Given the description of an element on the screen output the (x, y) to click on. 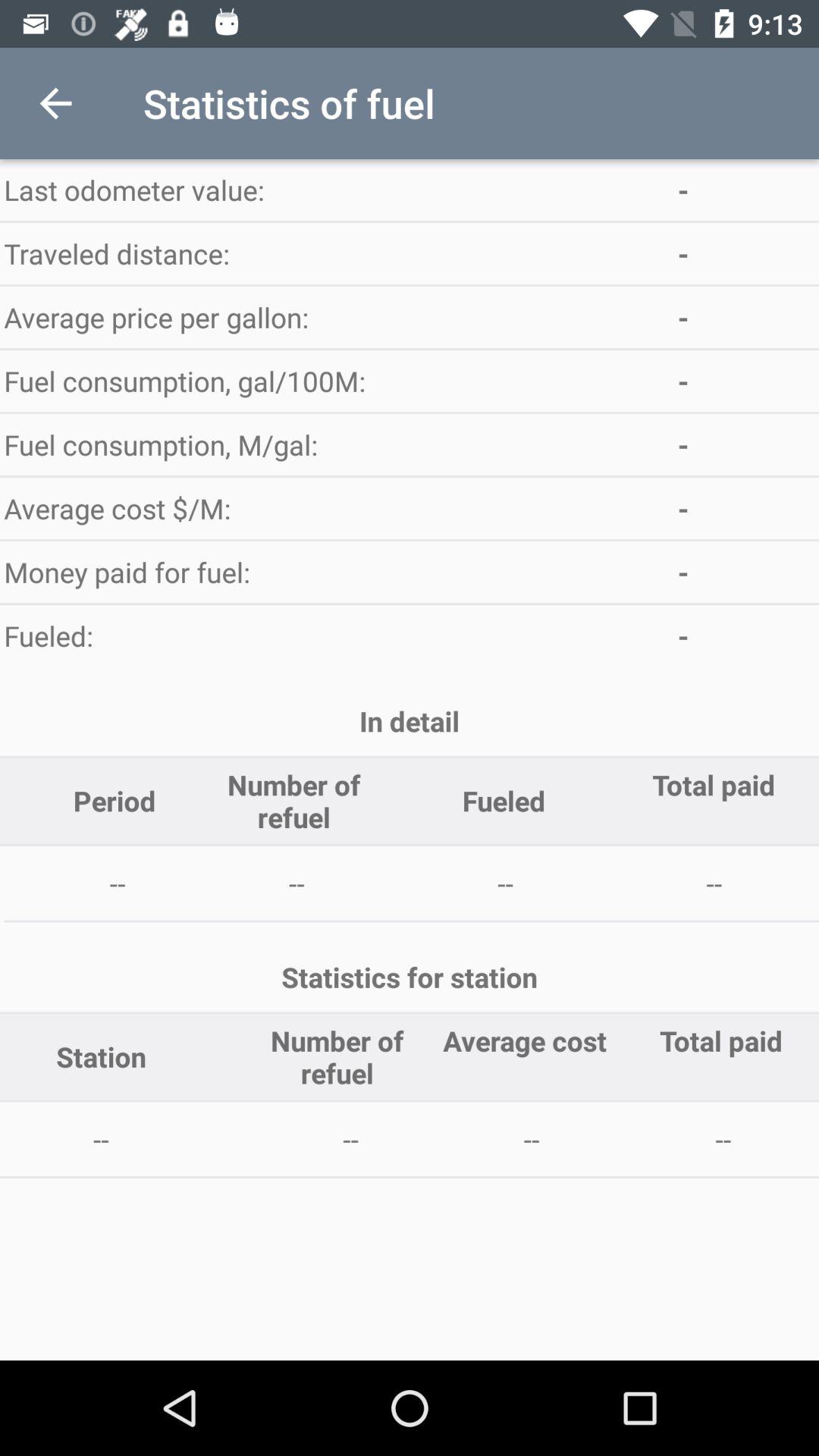
turn off the item to the left of the statistics of fuel (55, 103)
